Given the description of an element on the screen output the (x, y) to click on. 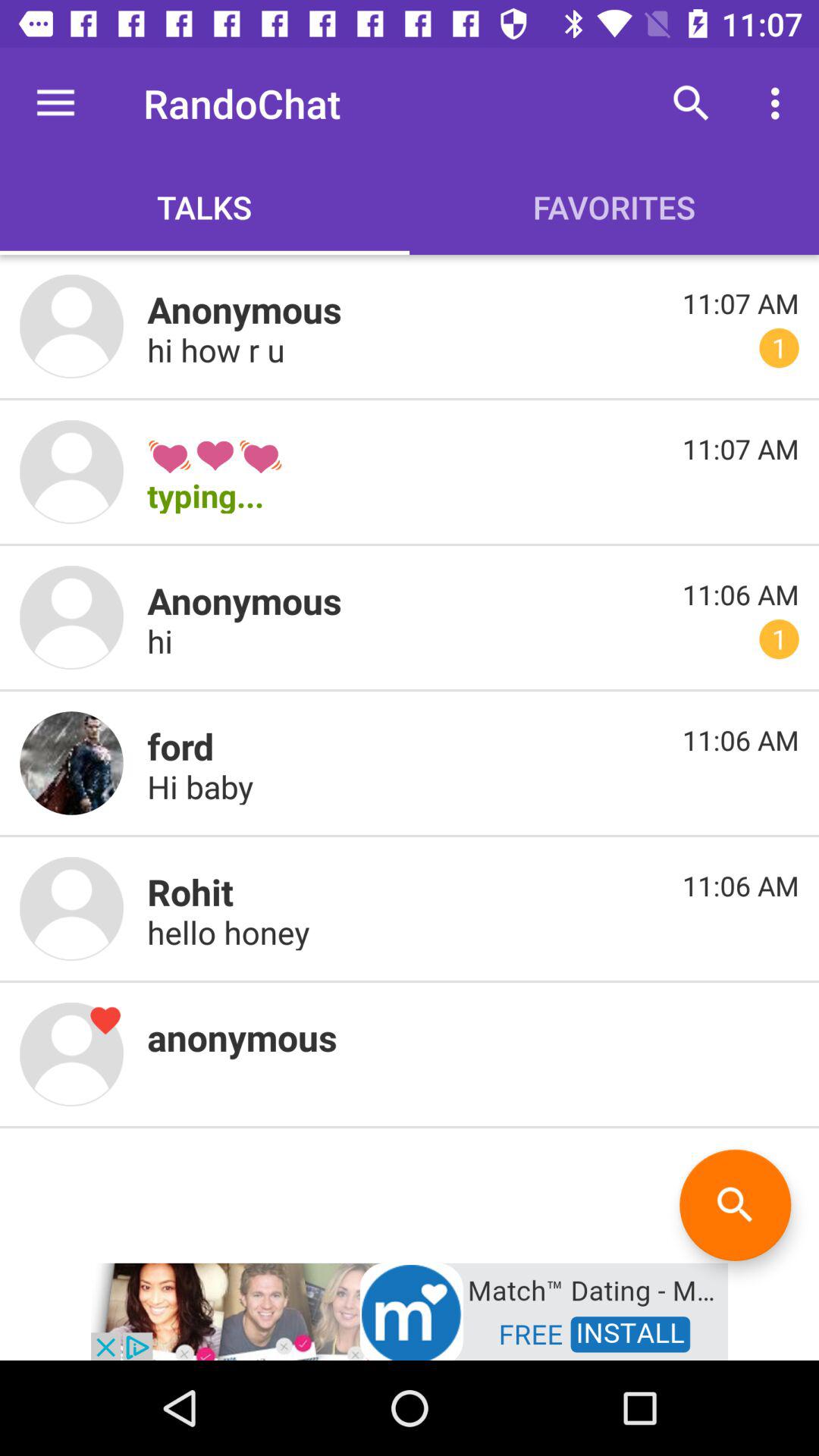
whatsapp profile photo (71, 1054)
